Given the description of an element on the screen output the (x, y) to click on. 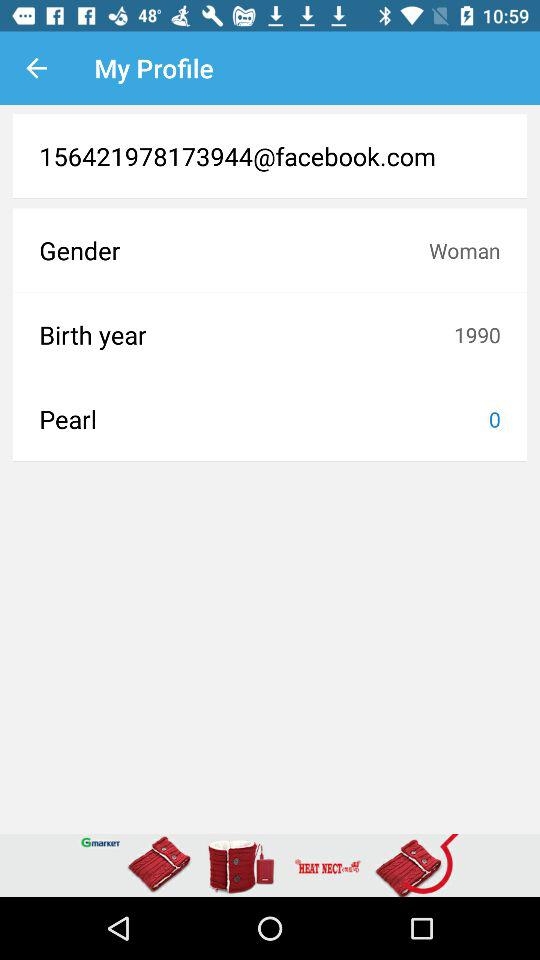
turn on item to the left of the woman (233, 250)
